Given the description of an element on the screen output the (x, y) to click on. 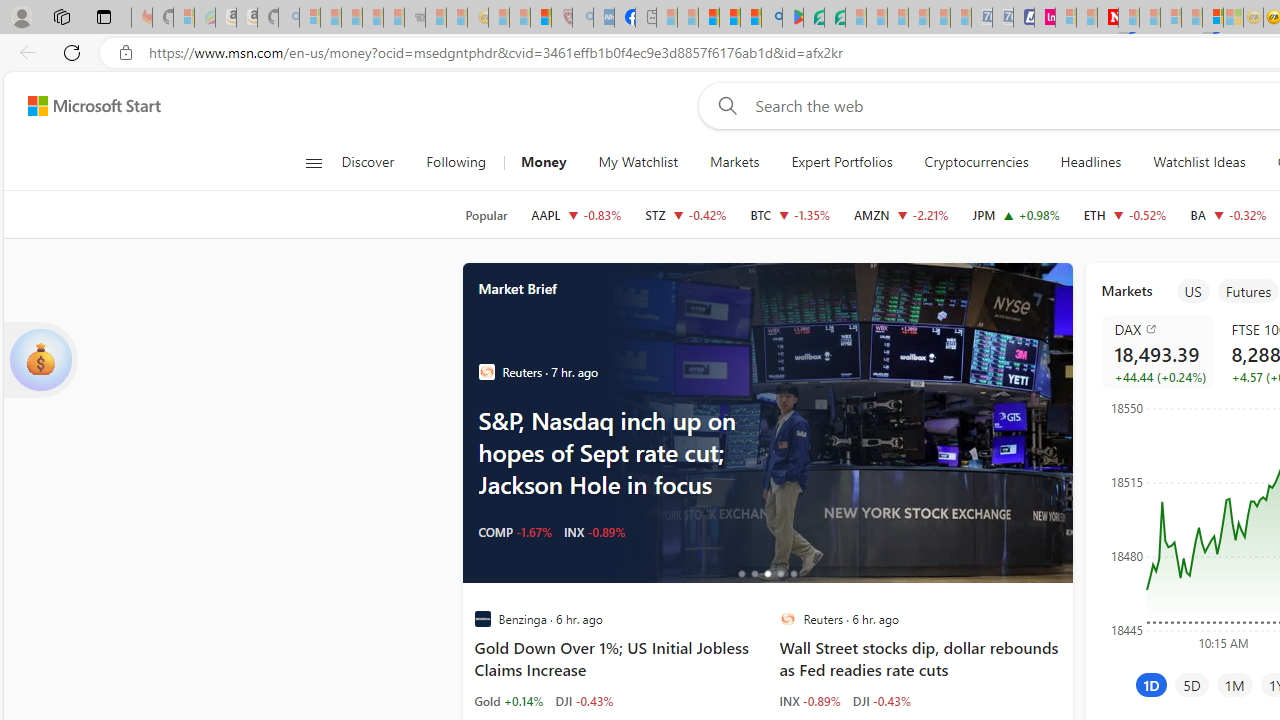
Expert Portfolios (841, 162)
Headlines (1090, 162)
list of asthma inhalers uk - Search - Sleeping (582, 17)
Web search (724, 105)
1M (1234, 684)
Microsoft Word - consumer-privacy address update 2.2021 (834, 17)
USOIL -0.08% (515, 532)
Skip to content (86, 105)
Local - MSN (541, 17)
ETH Ethereum decrease 2,623.42 -13.69 -0.52% (1124, 214)
5D (1192, 684)
